Given the description of an element on the screen output the (x, y) to click on. 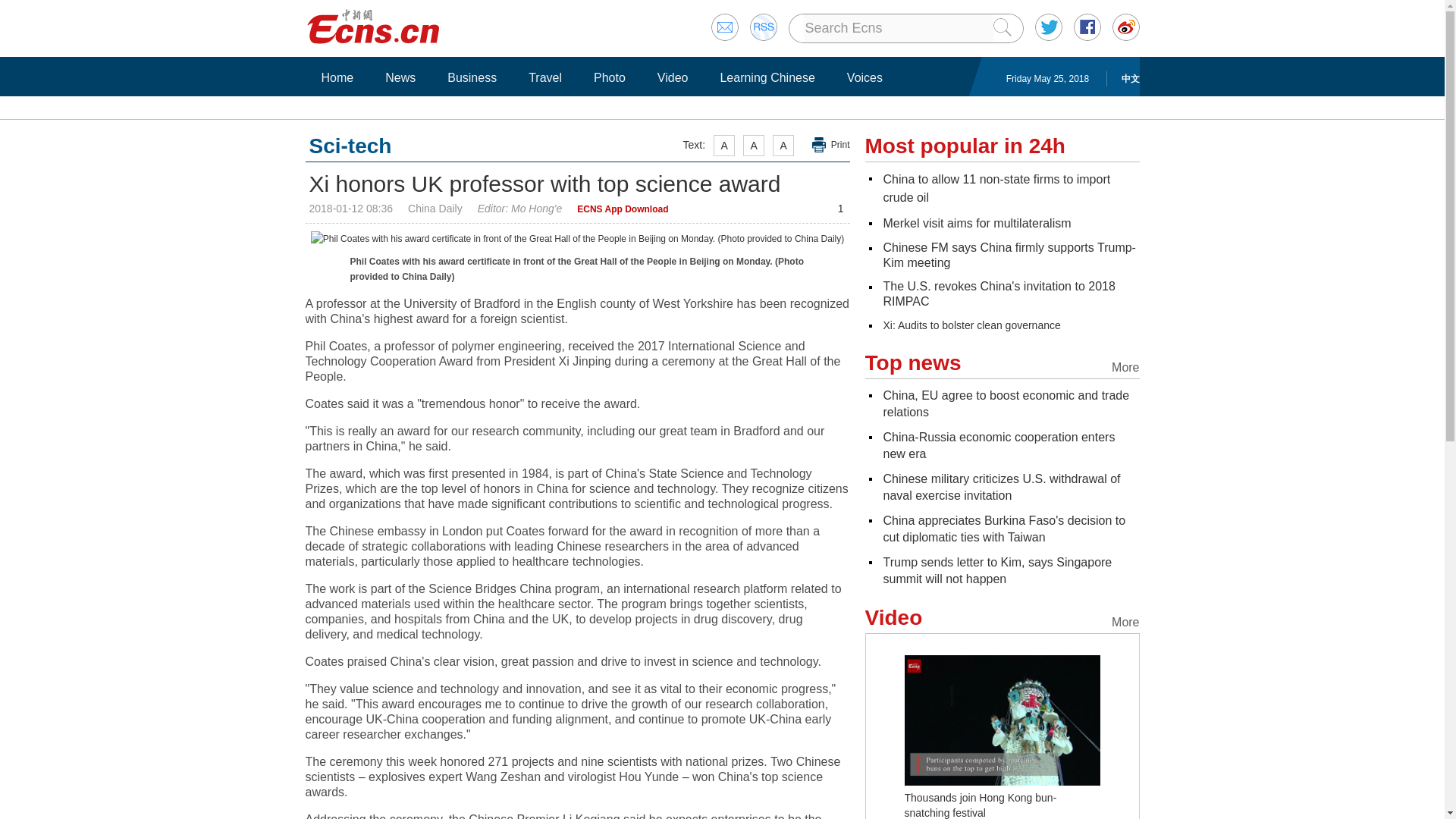
Search Ecns (897, 27)
ECNS App Download (622, 208)
Merkel visit aims for multilateralism (976, 223)
Chinese FM says China firmly supports Trump-Kim meeting (1008, 254)
Voices (864, 77)
Learning Chinese (766, 77)
Video (673, 77)
Xi: Audits to bolster clean governance (970, 325)
The U.S. revokes China's invitation to 2018 RIMPAC (998, 293)
Business (472, 77)
Home (337, 77)
China to allow 11 non-state firms to import crude oil (995, 187)
News (400, 77)
Print (831, 144)
Photo (609, 77)
